Given the description of an element on the screen output the (x, y) to click on. 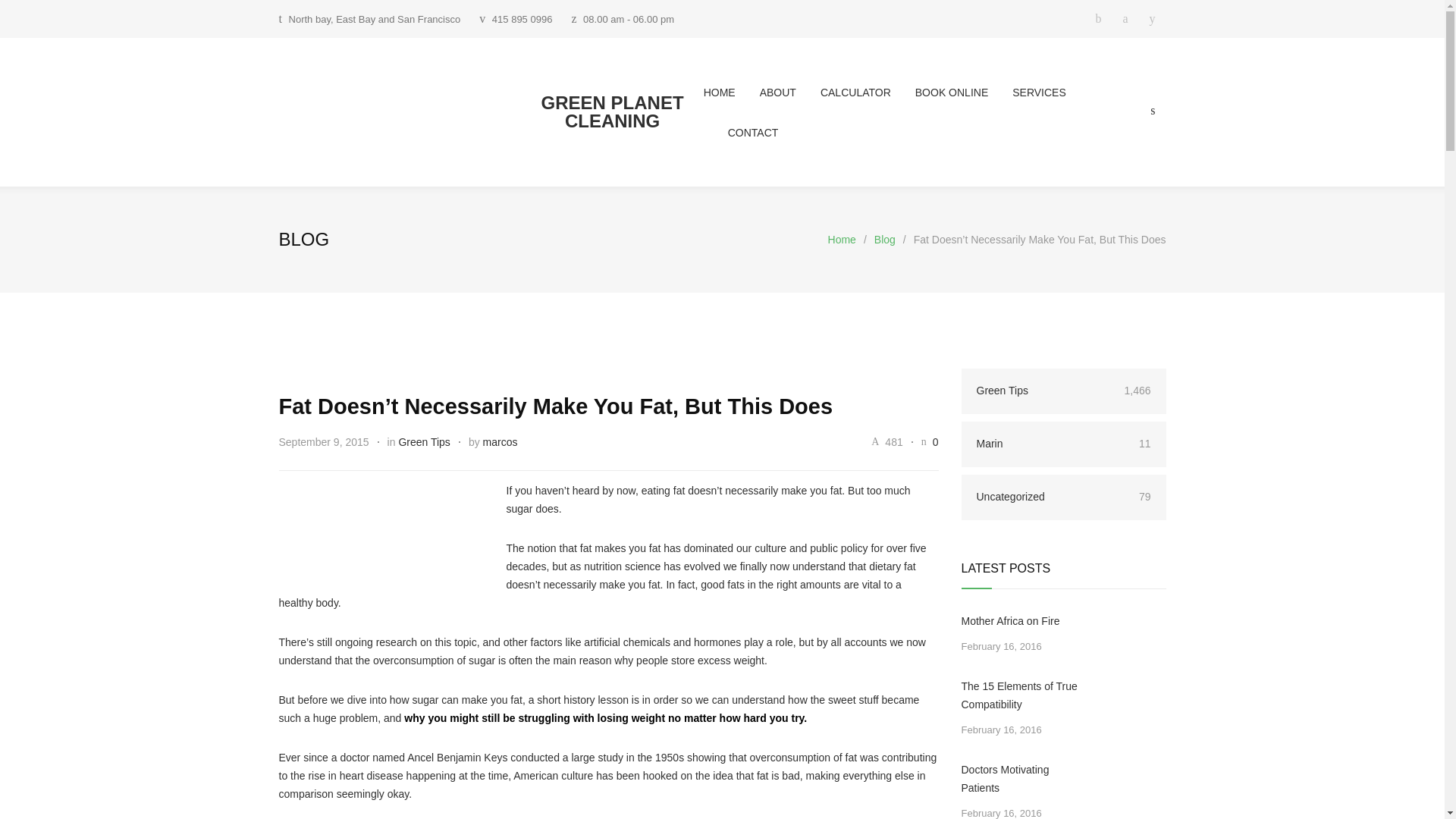
SERVICES (1026, 92)
ABOUT (765, 92)
CALCULATOR (843, 92)
Blog (304, 239)
GREEN PLANET CLEANING (491, 111)
Home (842, 239)
BOOK ONLINE (939, 92)
marcos (500, 441)
Blog (885, 239)
415 895 0996 (522, 19)
